Given the description of an element on the screen output the (x, y) to click on. 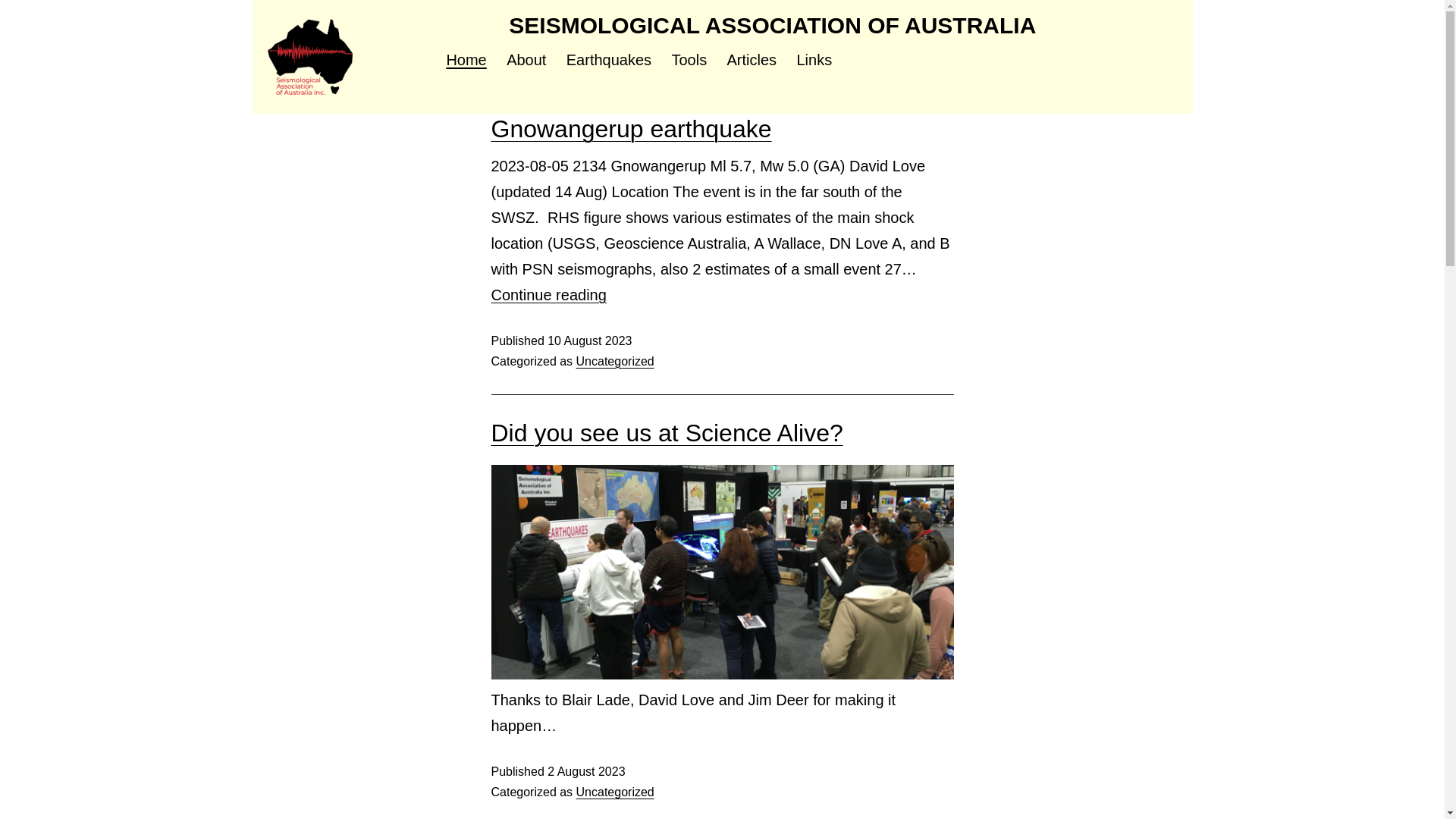
Tools Element type: text (688, 59)
Uncategorized Element type: text (615, 791)
Continue reading
Gnowangerup earthquake Element type: text (548, 294)
Home Element type: text (466, 59)
Articles Element type: text (751, 59)
Gnowangerup earthquake Element type: text (631, 128)
About Element type: text (526, 59)
Did you see us at Science Alive? Element type: text (667, 432)
Uncategorized Element type: text (615, 360)
Links Element type: text (813, 59)
Earthquakes Element type: text (609, 59)
